Given the description of an element on the screen output the (x, y) to click on. 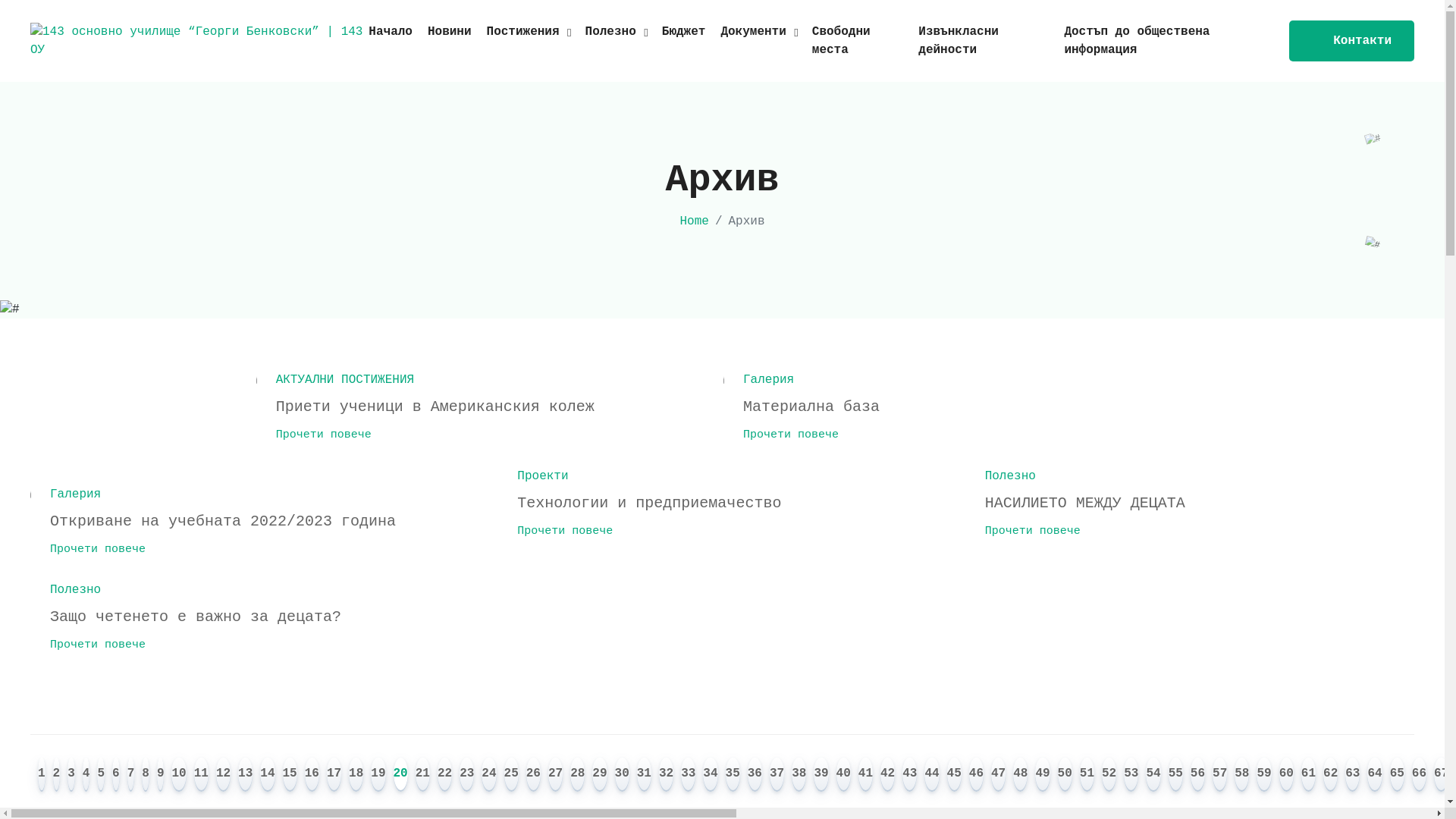
24 Element type: text (488, 774)
59 Element type: text (1263, 774)
5 Element type: text (100, 774)
60 Element type: text (1286, 774)
22 Element type: text (444, 774)
27 Element type: text (555, 774)
28 Element type: text (577, 774)
16 Element type: text (311, 774)
63 Element type: text (1352, 774)
2 Element type: text (56, 774)
43 Element type: text (909, 774)
26 Element type: text (533, 774)
66 Element type: text (1419, 774)
67 Element type: text (1441, 774)
35 Element type: text (732, 774)
58 Element type: text (1241, 774)
45 Element type: text (954, 774)
23 Element type: text (466, 774)
30 Element type: text (622, 774)
53 Element type: text (1130, 774)
54 Element type: text (1152, 774)
32 Element type: text (665, 774)
10 Element type: text (178, 774)
11 Element type: text (201, 774)
4 Element type: text (86, 774)
56 Element type: text (1197, 774)
52 Element type: text (1108, 774)
55 Element type: text (1175, 774)
48 Element type: text (1020, 774)
31 Element type: text (644, 774)
33 Element type: text (687, 774)
17 Element type: text (333, 774)
36 Element type: text (754, 774)
64 Element type: text (1374, 774)
12 Element type: text (223, 774)
25 Element type: text (511, 774)
37 Element type: text (776, 774)
18 Element type: text (355, 774)
61 Element type: text (1308, 774)
62 Element type: text (1330, 774)
65 Element type: text (1397, 774)
34 Element type: text (709, 774)
3 Element type: text (71, 774)
15 Element type: text (289, 774)
19 Element type: text (377, 774)
46 Element type: text (976, 774)
49 Element type: text (1042, 774)
39 Element type: text (820, 774)
38 Element type: text (798, 774)
Home Element type: text (693, 221)
47 Element type: text (998, 774)
8 Element type: text (145, 774)
29 Element type: text (599, 774)
44 Element type: text (931, 774)
7 Element type: text (130, 774)
6 Element type: text (115, 774)
14 Element type: text (267, 774)
13 Element type: text (245, 774)
1 Element type: text (41, 774)
40 Element type: text (843, 774)
57 Element type: text (1219, 774)
21 Element type: text (422, 774)
50 Element type: text (1064, 774)
41 Element type: text (865, 774)
42 Element type: text (887, 774)
9 Element type: text (160, 774)
51 Element type: text (1086, 774)
